Given the description of an element on the screen output the (x, y) to click on. 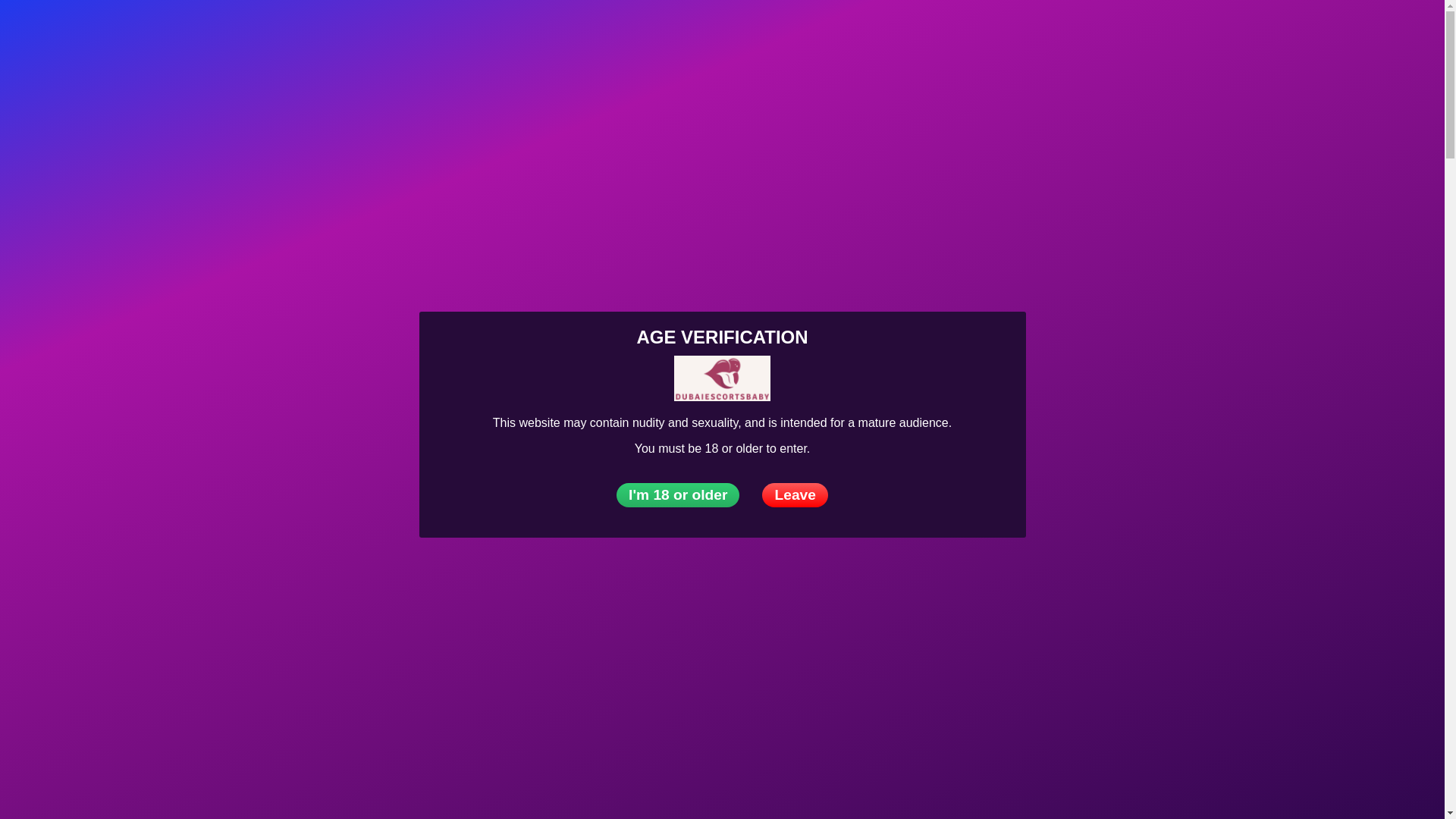
Escort Reviews (477, 33)
Our Blog (671, 33)
Algeria (55, 145)
Escorts on Tour (367, 33)
Contact Us (1415, 31)
Contact Us (748, 33)
Escort girls in Morocco (855, 662)
Escorts in Morocco (846, 395)
Classified Ads (584, 33)
Agencies (274, 33)
Search (1384, 31)
DubaiEscortsBaby (146, 33)
Australia (59, 230)
Morocco Escorts (840, 516)
Albania (56, 116)
